Given the description of an element on the screen output the (x, y) to click on. 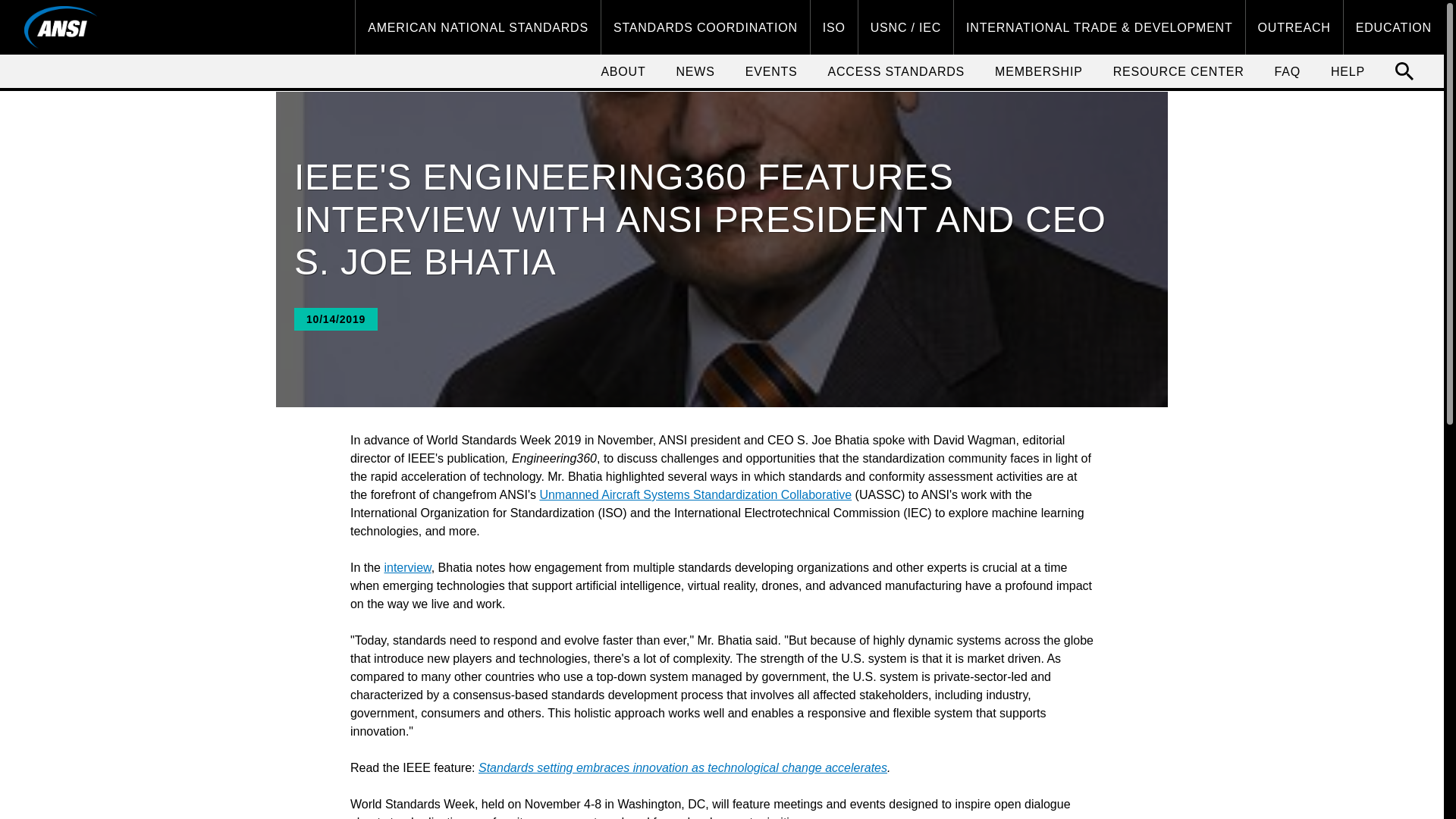
AMERICAN NATIONAL STANDARDS (477, 27)
Home (60, 26)
STANDARDS COORDINATION (705, 27)
